Given the description of an element on the screen output the (x, y) to click on. 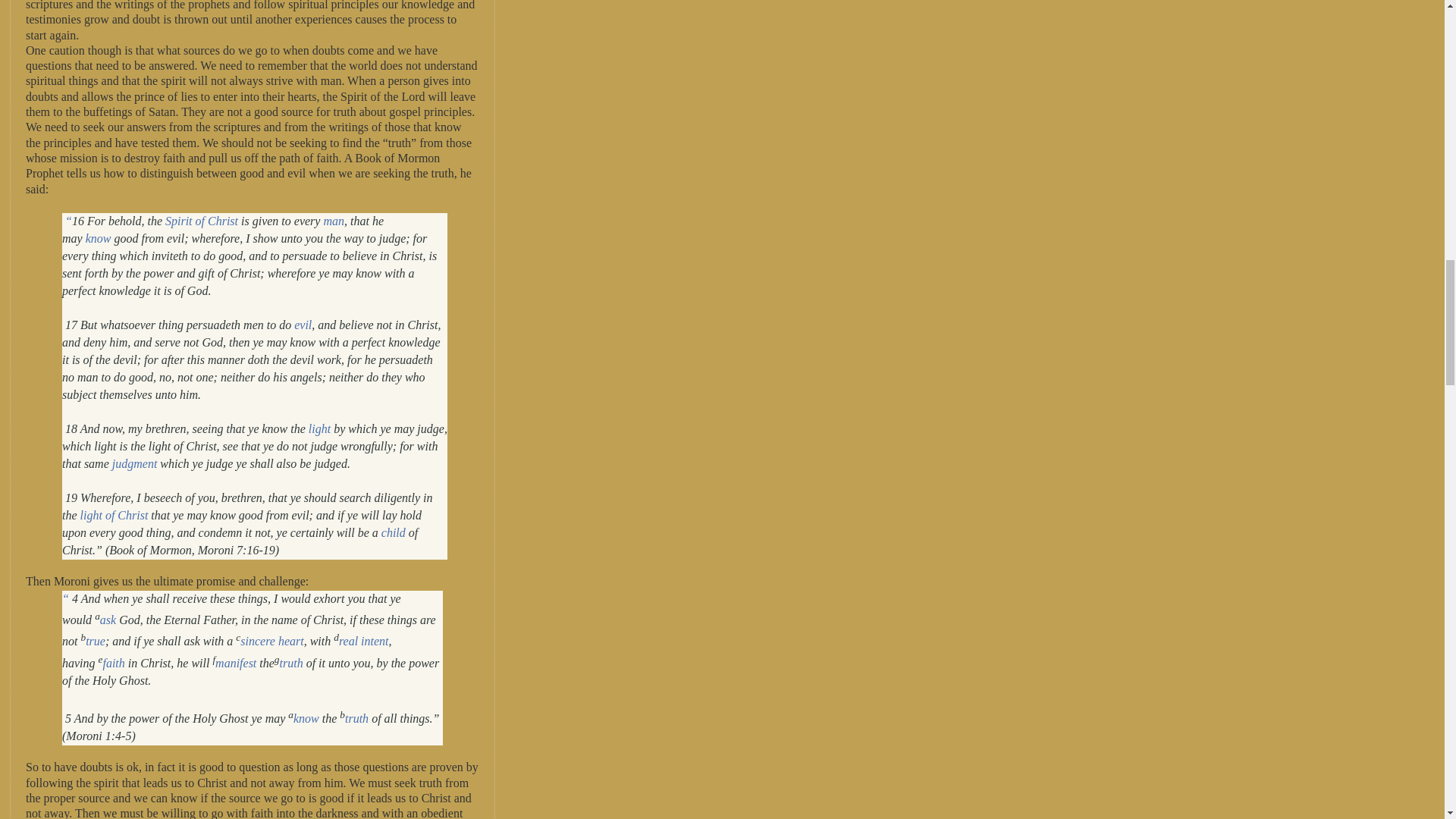
sincere heart (271, 640)
light of Christ (114, 514)
faith (112, 662)
ask (108, 619)
manifest (235, 662)
truth (290, 662)
evil (302, 324)
man (333, 220)
true (94, 640)
real intent (363, 640)
light (319, 428)
Spirit of Christ (201, 220)
truth (356, 717)
know (306, 717)
judgment (134, 463)
